Given the description of an element on the screen output the (x, y) to click on. 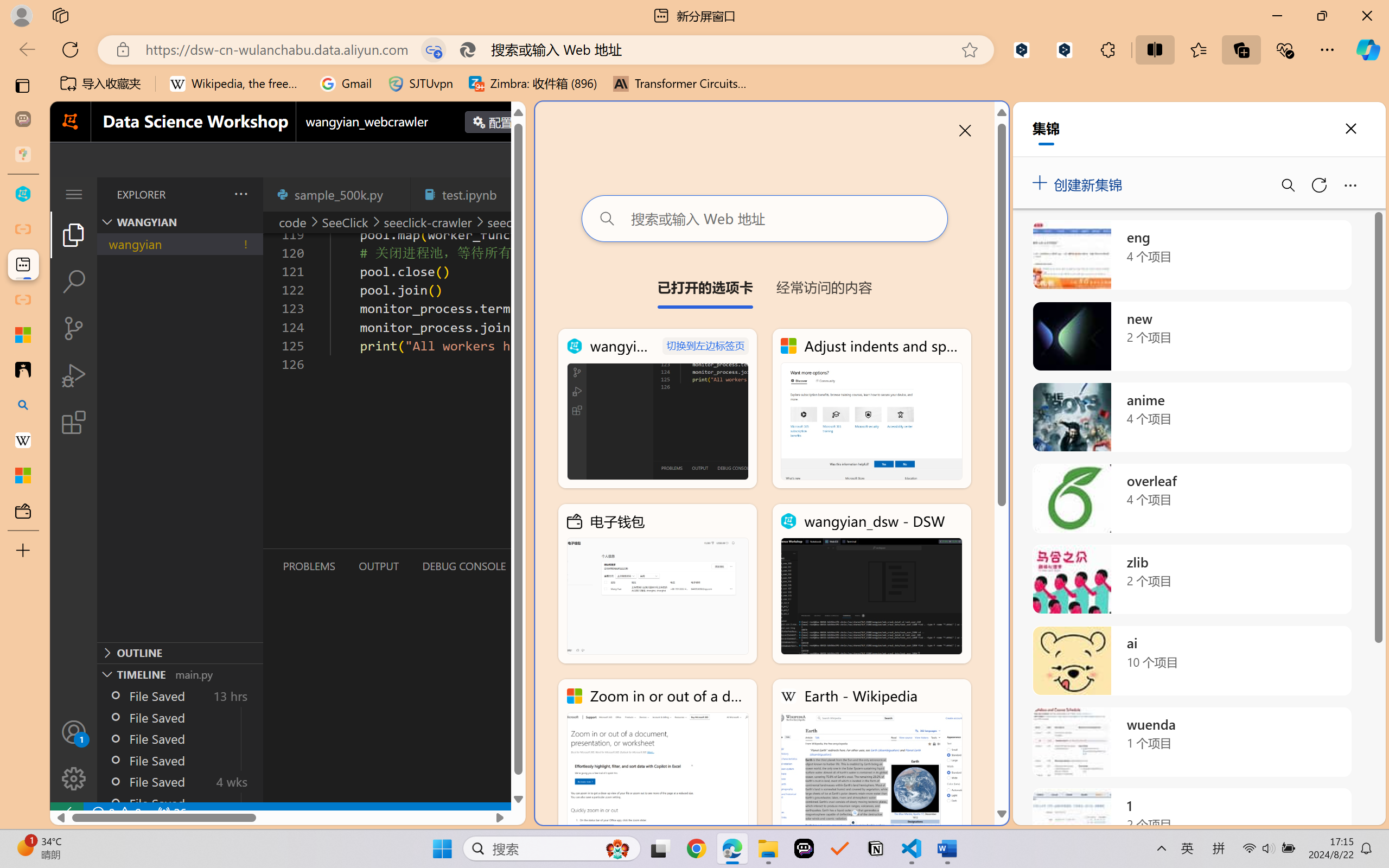
sample_500k.py (336, 194)
Copilot (Ctrl+Shift+.) (1368, 49)
Outline Section (179, 652)
Explorer actions (212, 194)
Close (Ctrl+F4) (512, 194)
wangyian_webcrawler - DSW (657, 408)
wangyian_dsw - DSW (871, 583)
No Problems (115, 812)
